Given the description of an element on the screen output the (x, y) to click on. 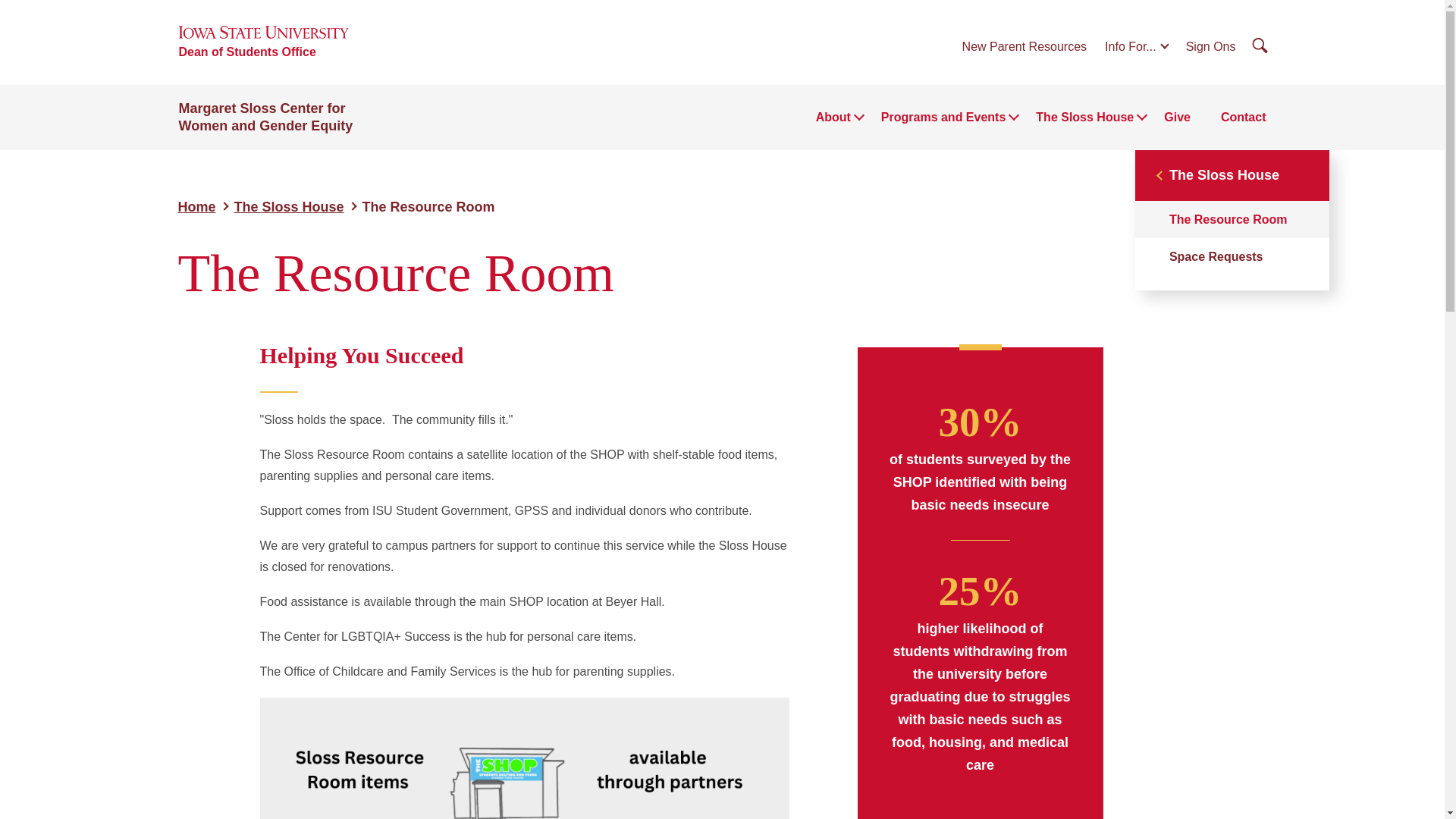
Dean of Students Office (247, 51)
Programs and Events (943, 117)
Home (196, 206)
The Sloss House (1084, 117)
Margaret Sloss Center for Women and Gender Equity (266, 116)
Search (1260, 45)
About (832, 117)
Give (1177, 117)
Info For... (1136, 46)
The Sloss House (288, 206)
Sign Ons (1211, 46)
New Parent Resources (1024, 46)
Contact (1243, 117)
